Given the description of an element on the screen output the (x, y) to click on. 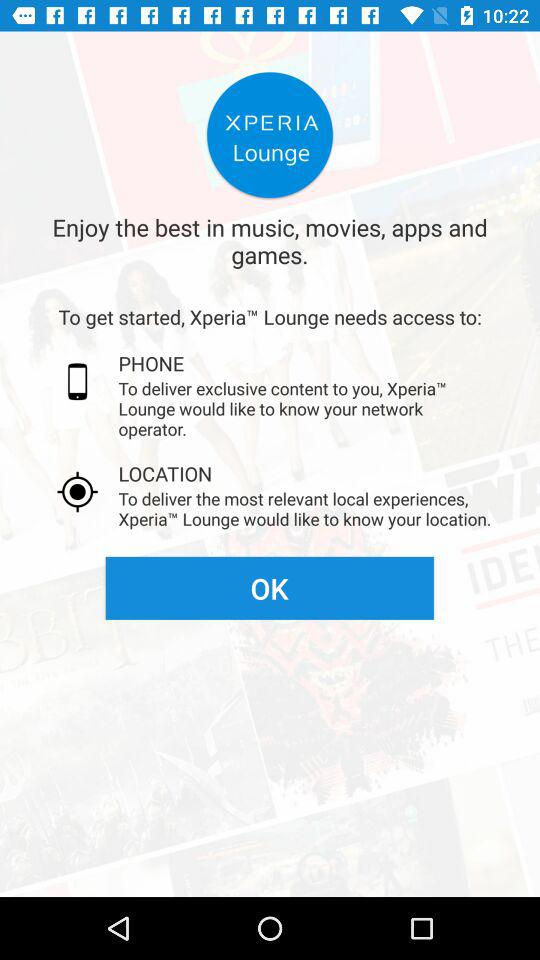
turn on the ok icon (269, 587)
